Given the description of an element on the screen output the (x, y) to click on. 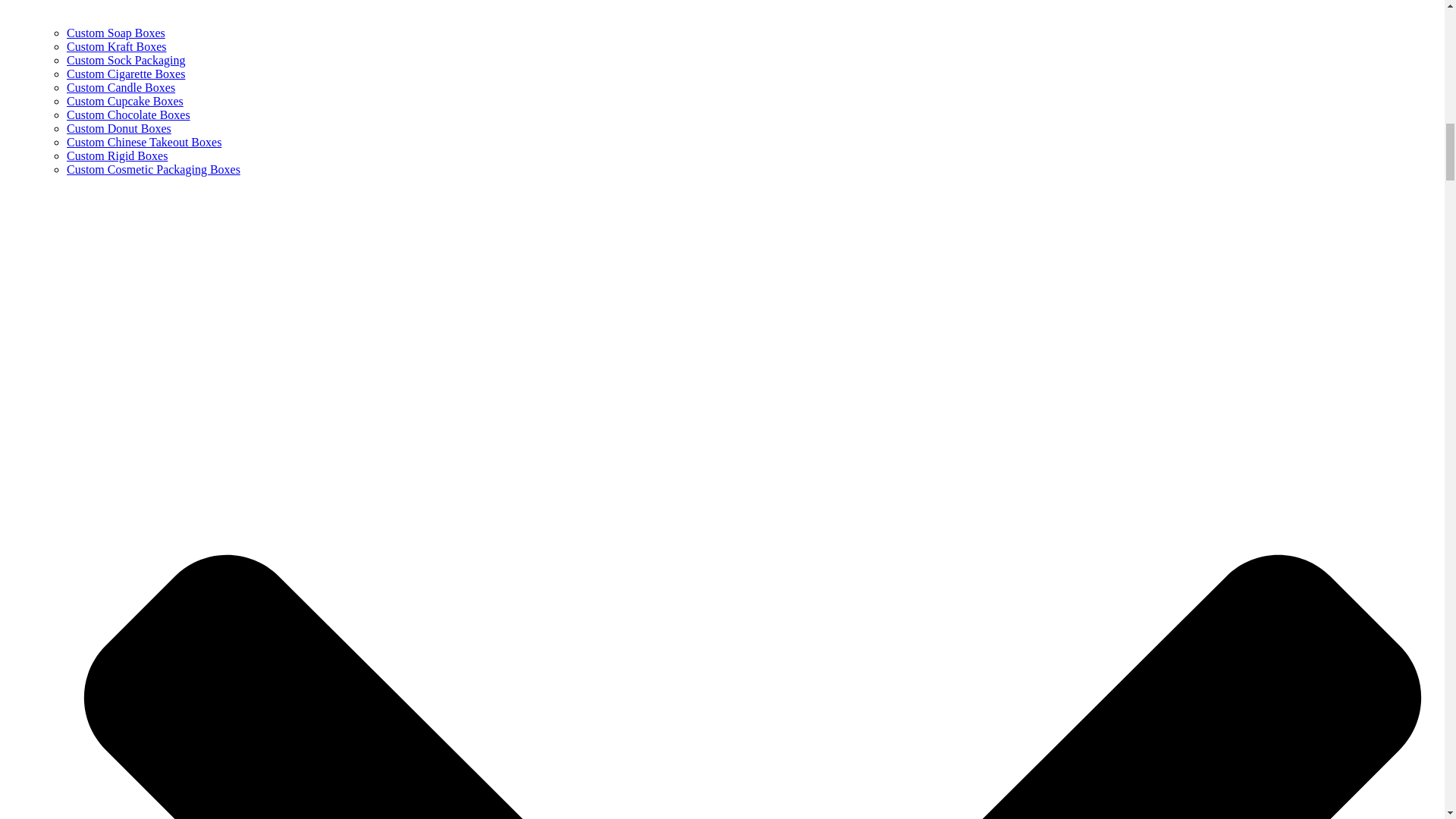
Custom Kraft Boxes (116, 46)
Custom Sock Packaging (125, 60)
Custom Rigid Boxes (116, 155)
Custom Donut Boxes (118, 128)
Custom Chinese Takeout Boxes (143, 141)
Custom Cigarette Boxes (125, 73)
Custom Candle Boxes (120, 87)
Custom Chocolate Boxes (128, 114)
Custom Cupcake Boxes (124, 101)
Custom Soap Boxes (115, 32)
